Given the description of an element on the screen output the (x, y) to click on. 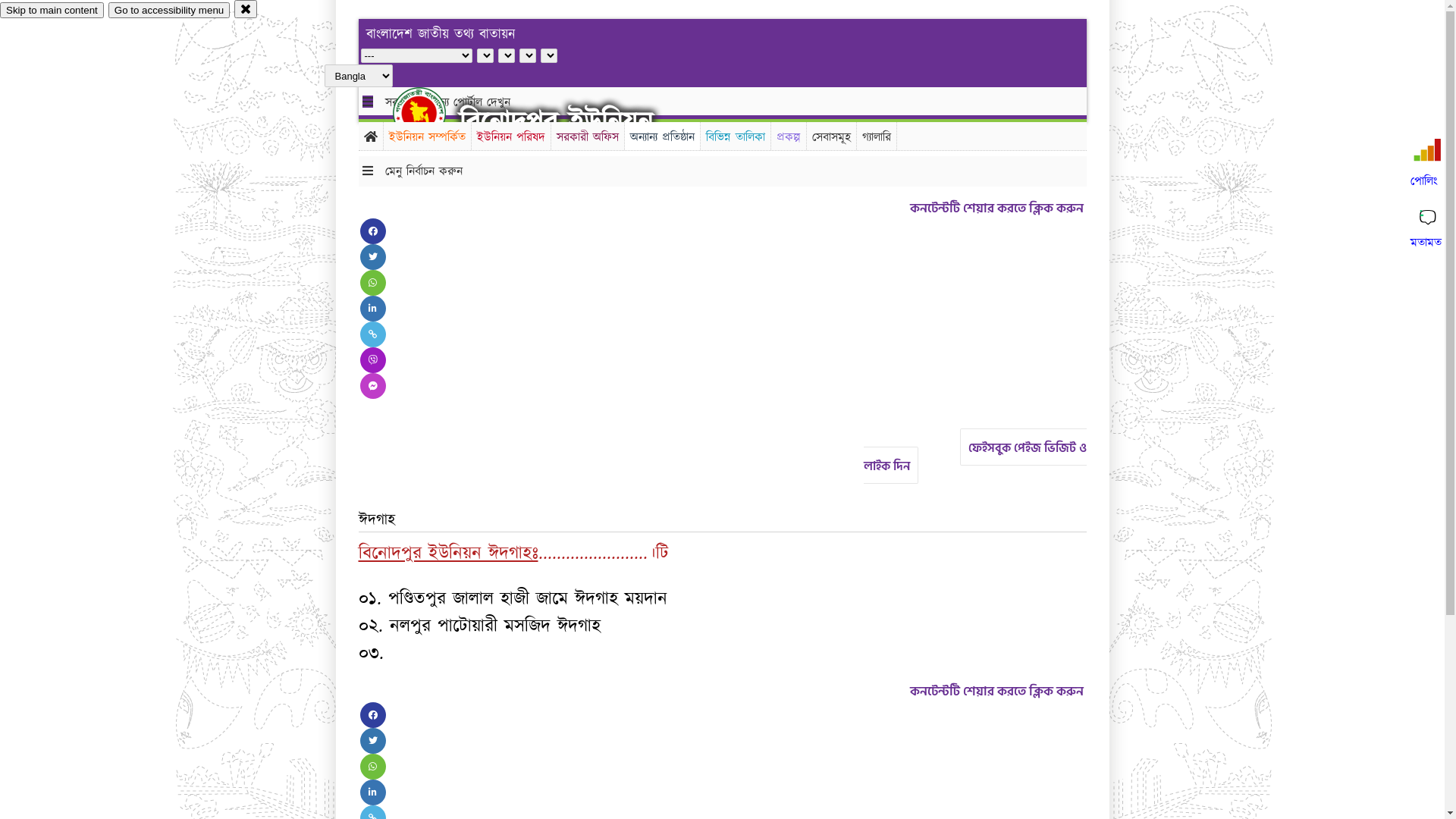
close Element type: hover (245, 9)
Go to accessibility menu Element type: text (168, 10)
Skip to main content Element type: text (51, 10)

                
             Element type: hover (431, 112)
